Given the description of an element on the screen output the (x, y) to click on. 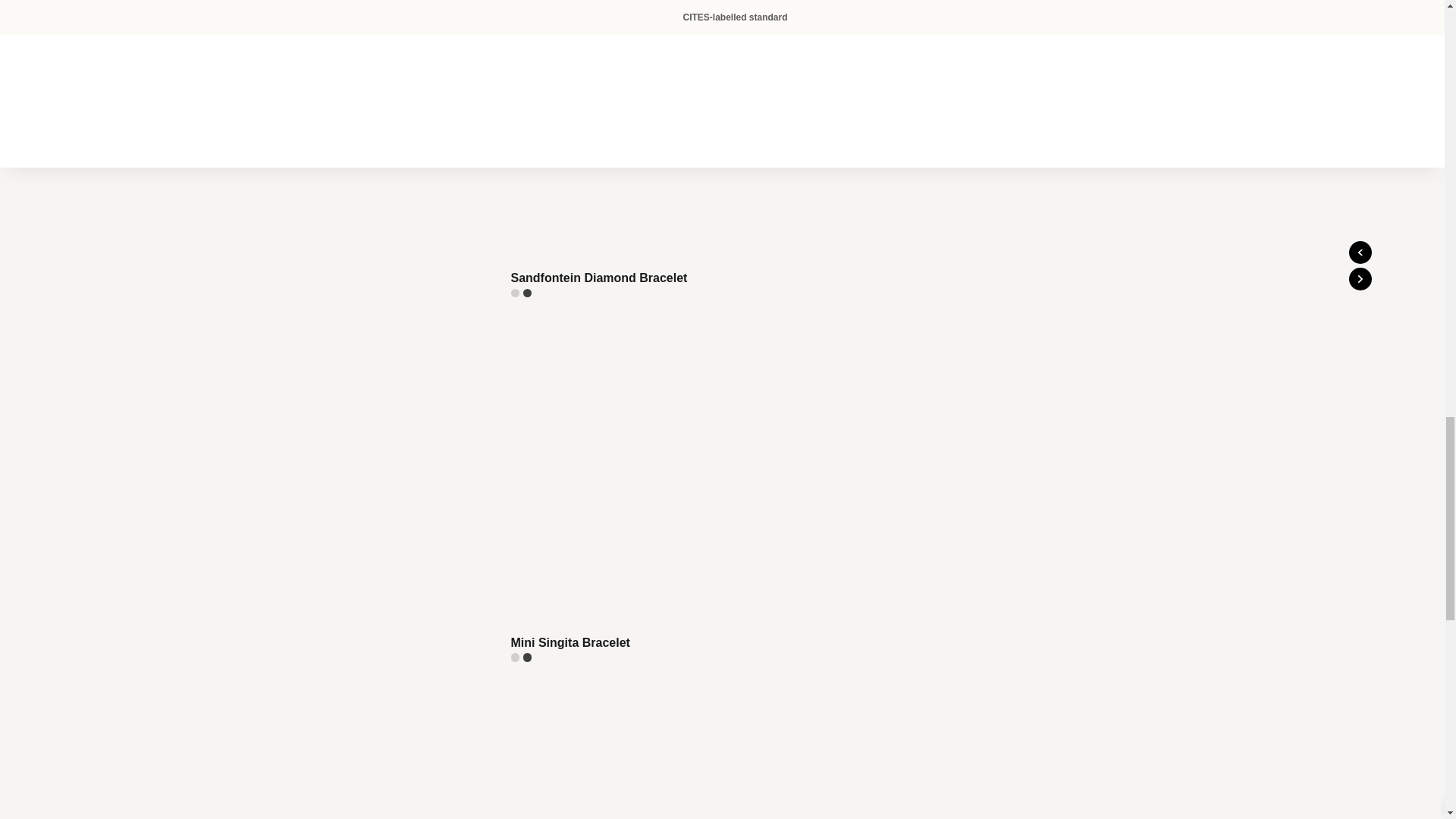
Sandfontein Diamond Bracelet (673, 149)
